Given the description of an element on the screen output the (x, y) to click on. 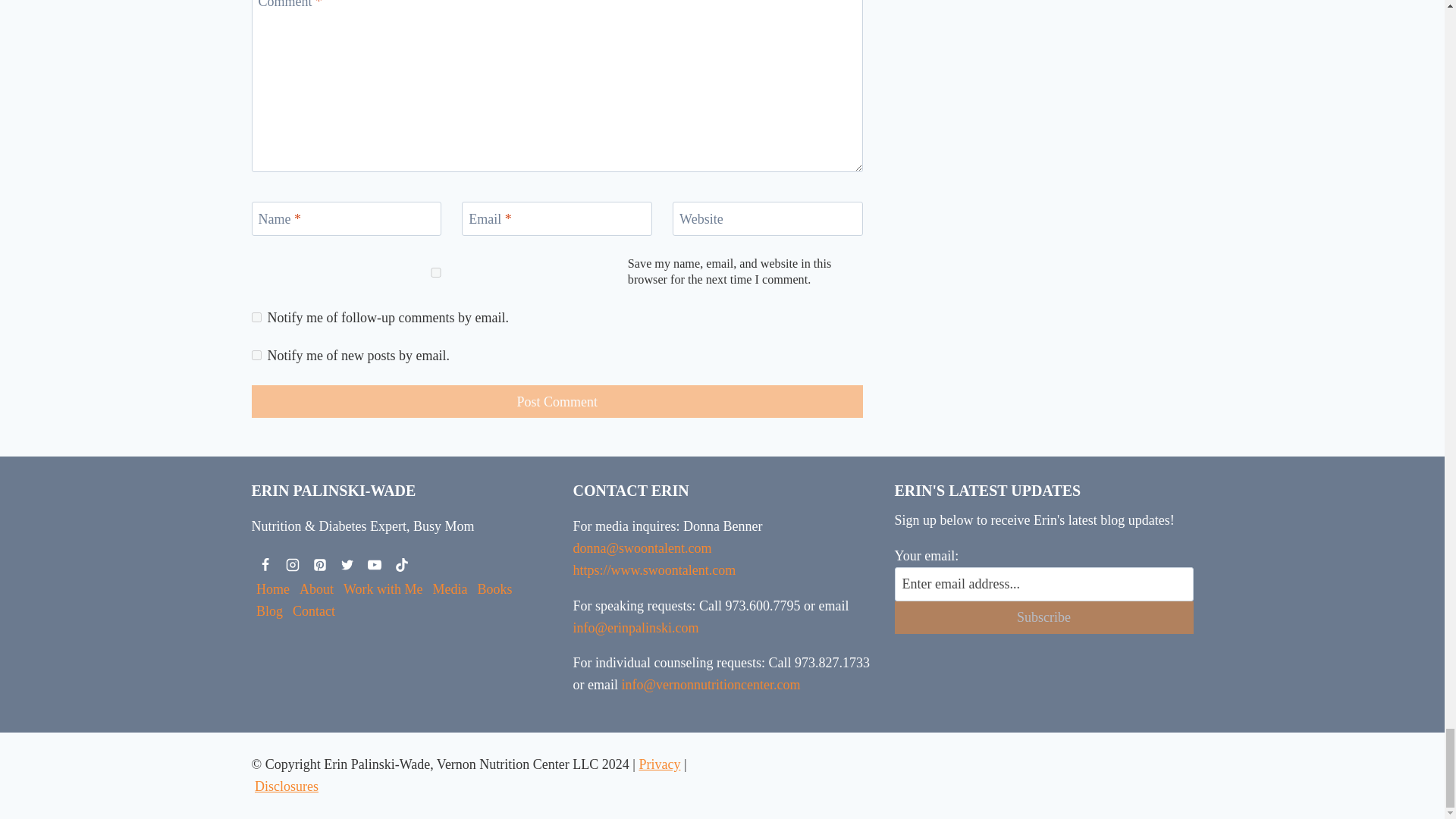
subscribe (256, 317)
yes (436, 272)
subscribe (256, 355)
Enter email address... (1044, 584)
Post Comment (557, 400)
Subscribe (1044, 617)
